Given the description of an element on the screen output the (x, y) to click on. 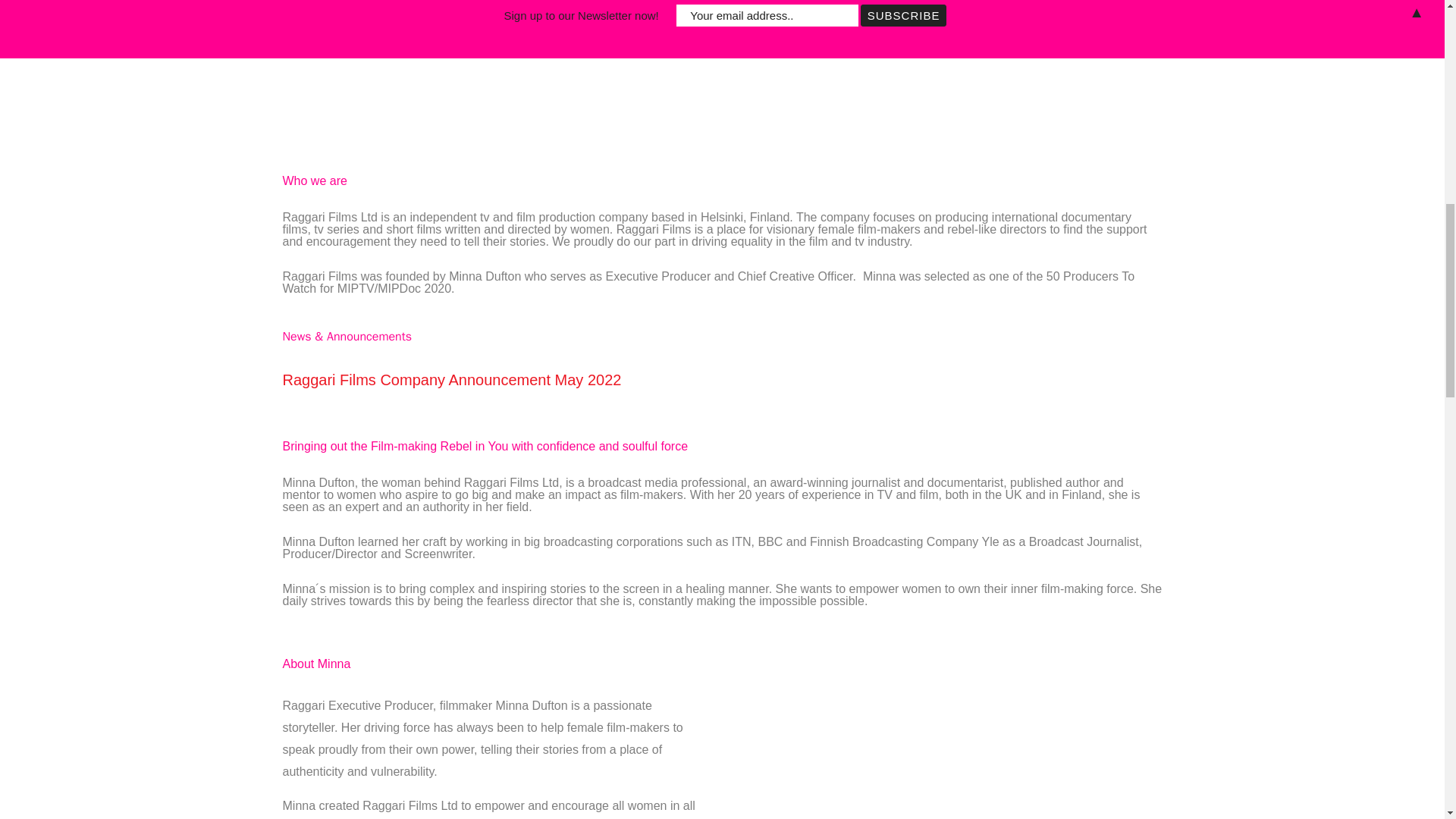
Raggari Films Company Announcement May 2022 (451, 379)
